Given the description of an element on the screen output the (x, y) to click on. 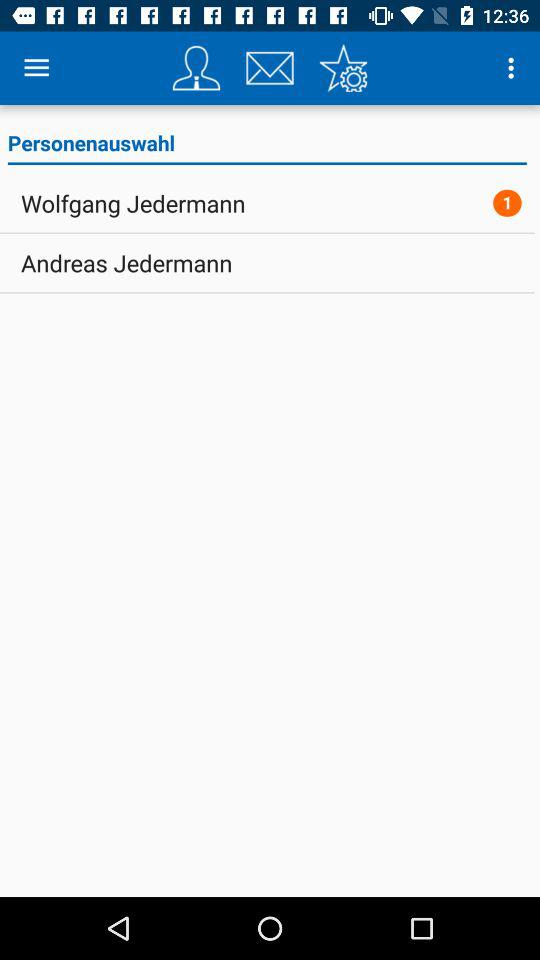
click the item to the right of the wolfgang jedermann icon (507, 202)
